Given the description of an element on the screen output the (x, y) to click on. 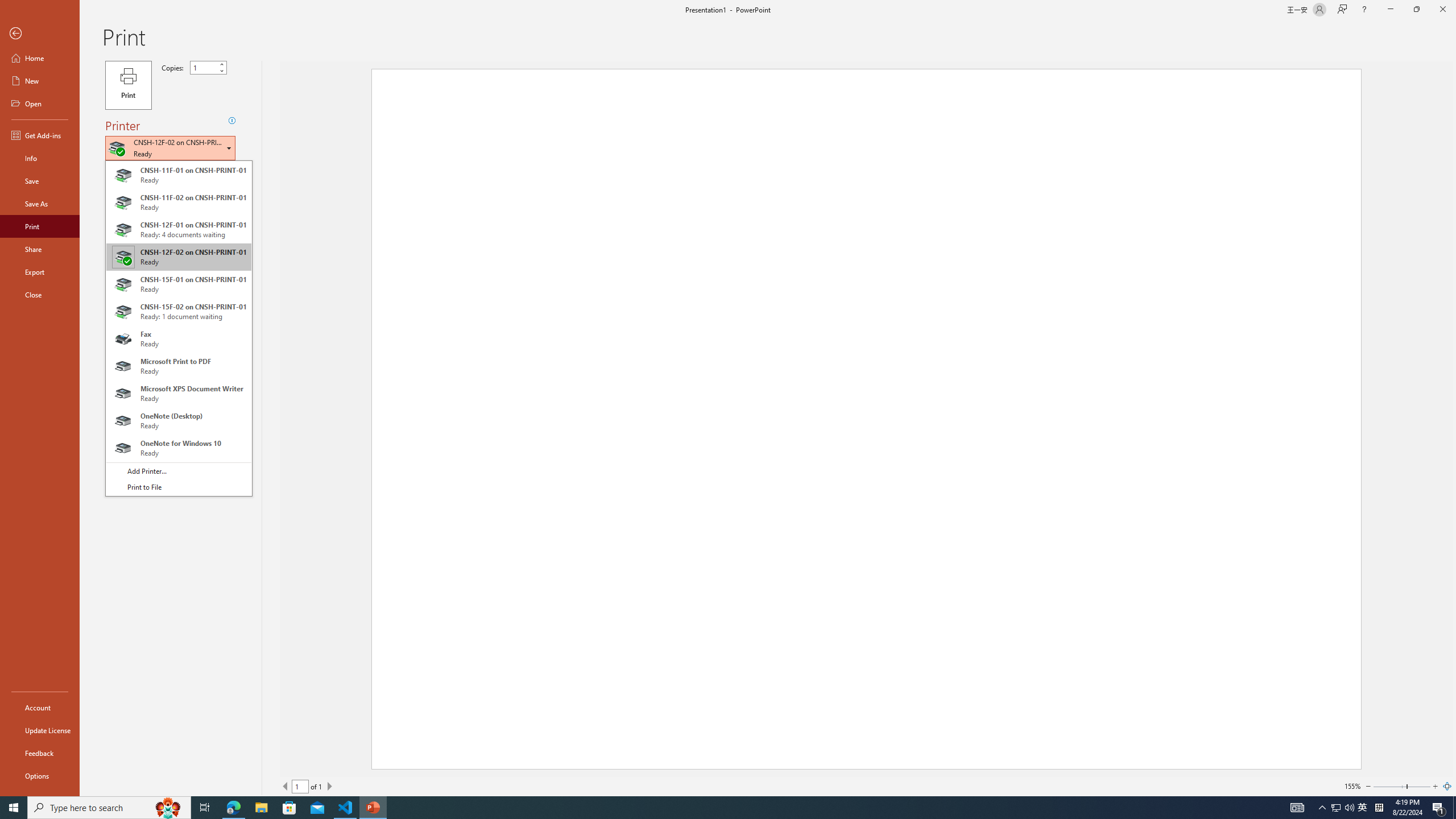
Update License (40, 730)
155% (1352, 785)
Back (40, 33)
Save As (40, 203)
Copies (203, 67)
New (40, 80)
Page right (1418, 786)
Which Printer (169, 147)
Print (127, 84)
